Given the description of an element on the screen output the (x, y) to click on. 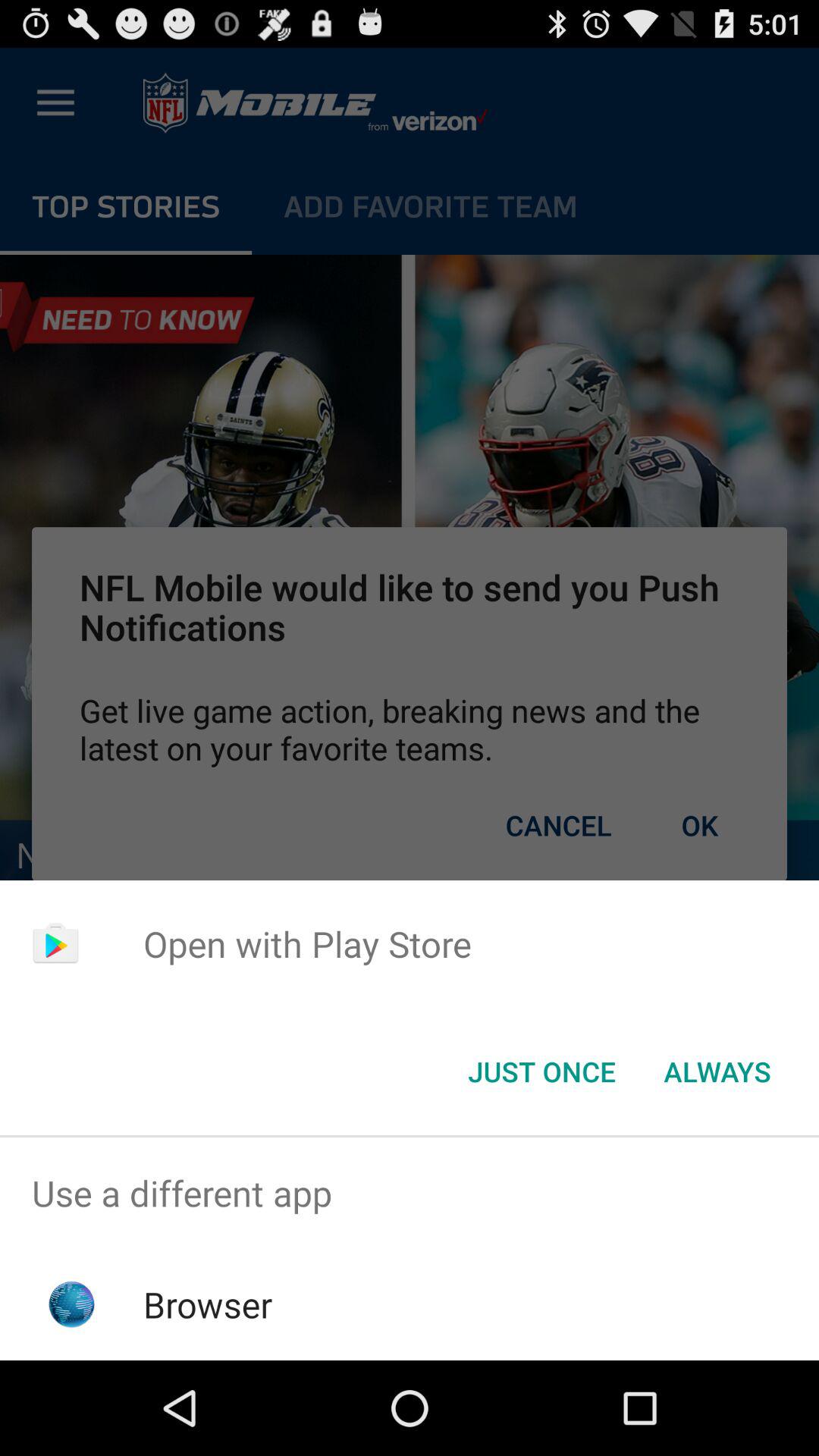
tap icon to the left of the always button (541, 1071)
